Given the description of an element on the screen output the (x, y) to click on. 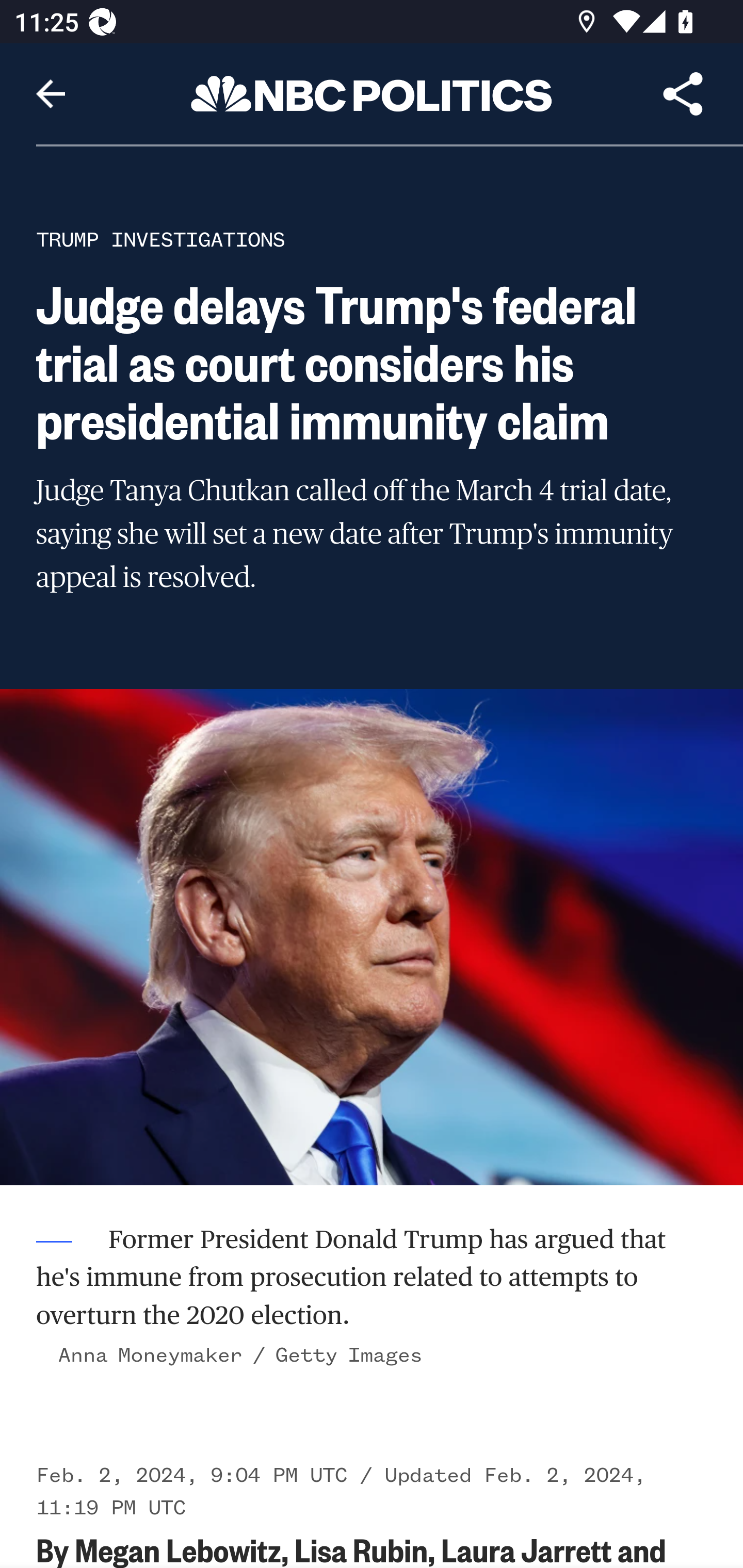
Navigate up (50, 93)
Share Article, button (683, 94)
Header, NBC Politics (371, 93)
TRUMP INVESTIGATIONS (160, 239)
